Given the description of an element on the screen output the (x, y) to click on. 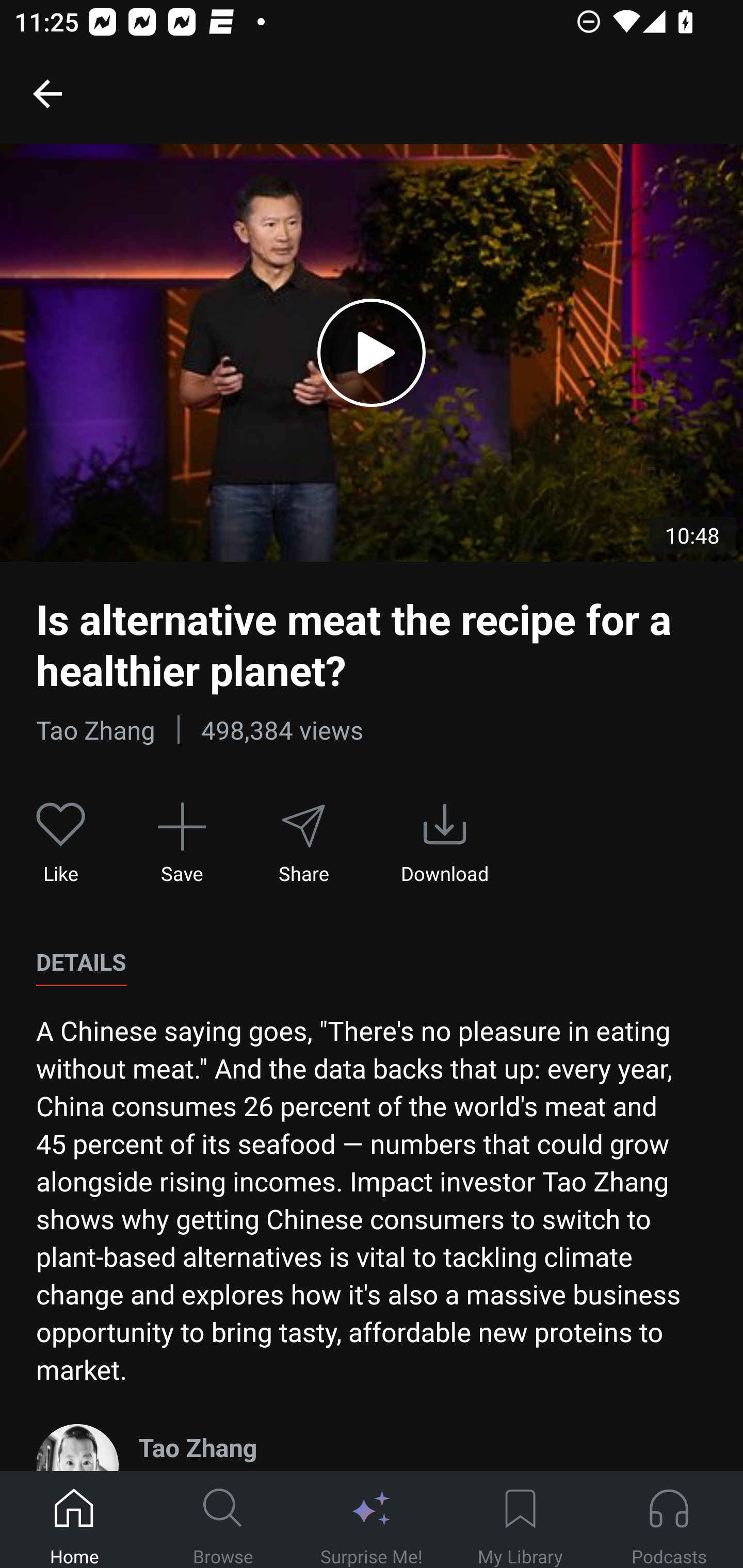
Go back (47, 92)
Like (60, 843)
Save (181, 843)
Share (302, 843)
Download (444, 843)
DETAILS (80, 962)
Home (74, 1520)
Browse (222, 1520)
Surprise Me! (371, 1520)
My Library (519, 1520)
Podcasts (668, 1520)
